Given the description of an element on the screen output the (x, y) to click on. 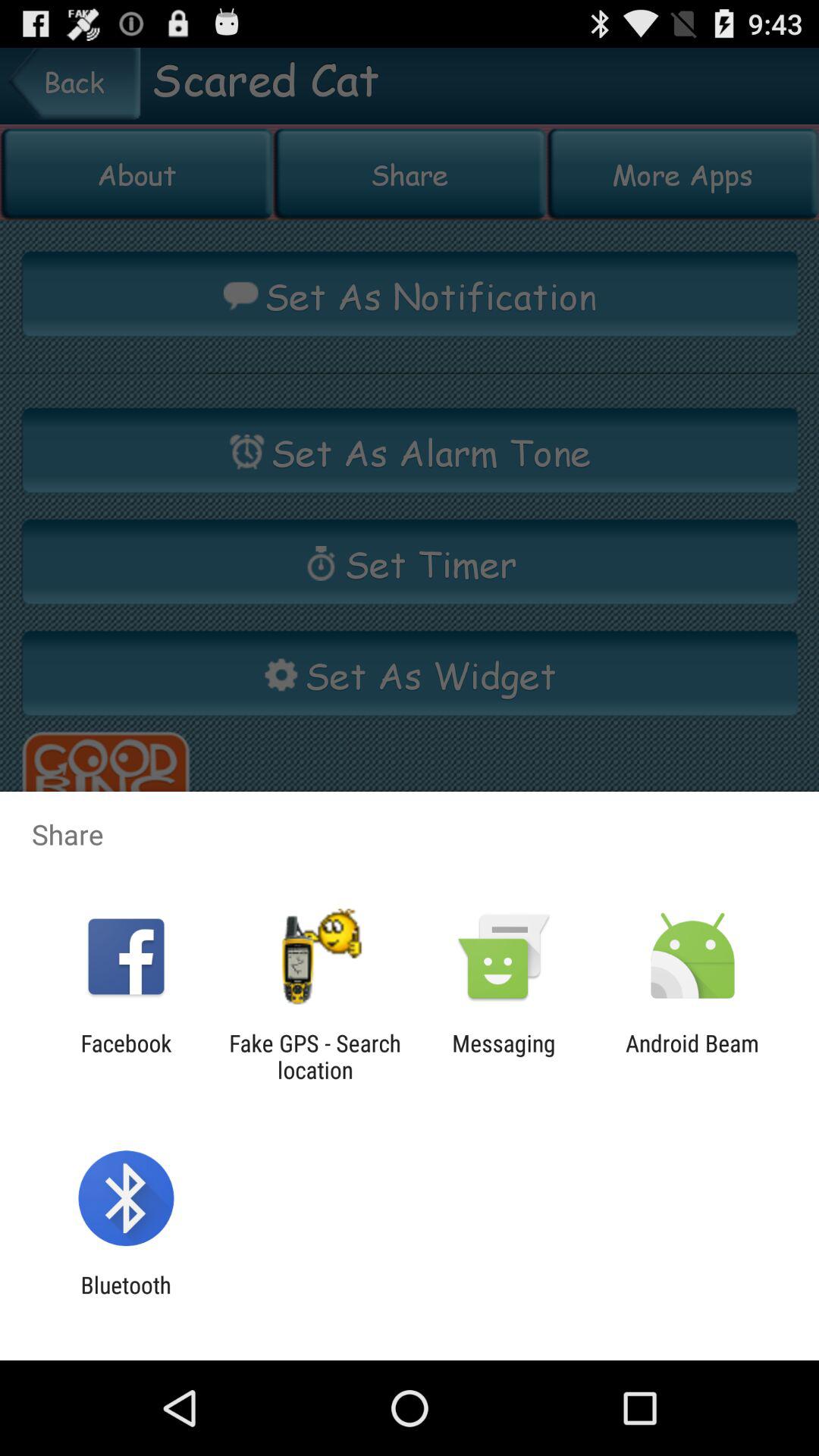
click the item next to facebook icon (314, 1056)
